Given the description of an element on the screen output the (x, y) to click on. 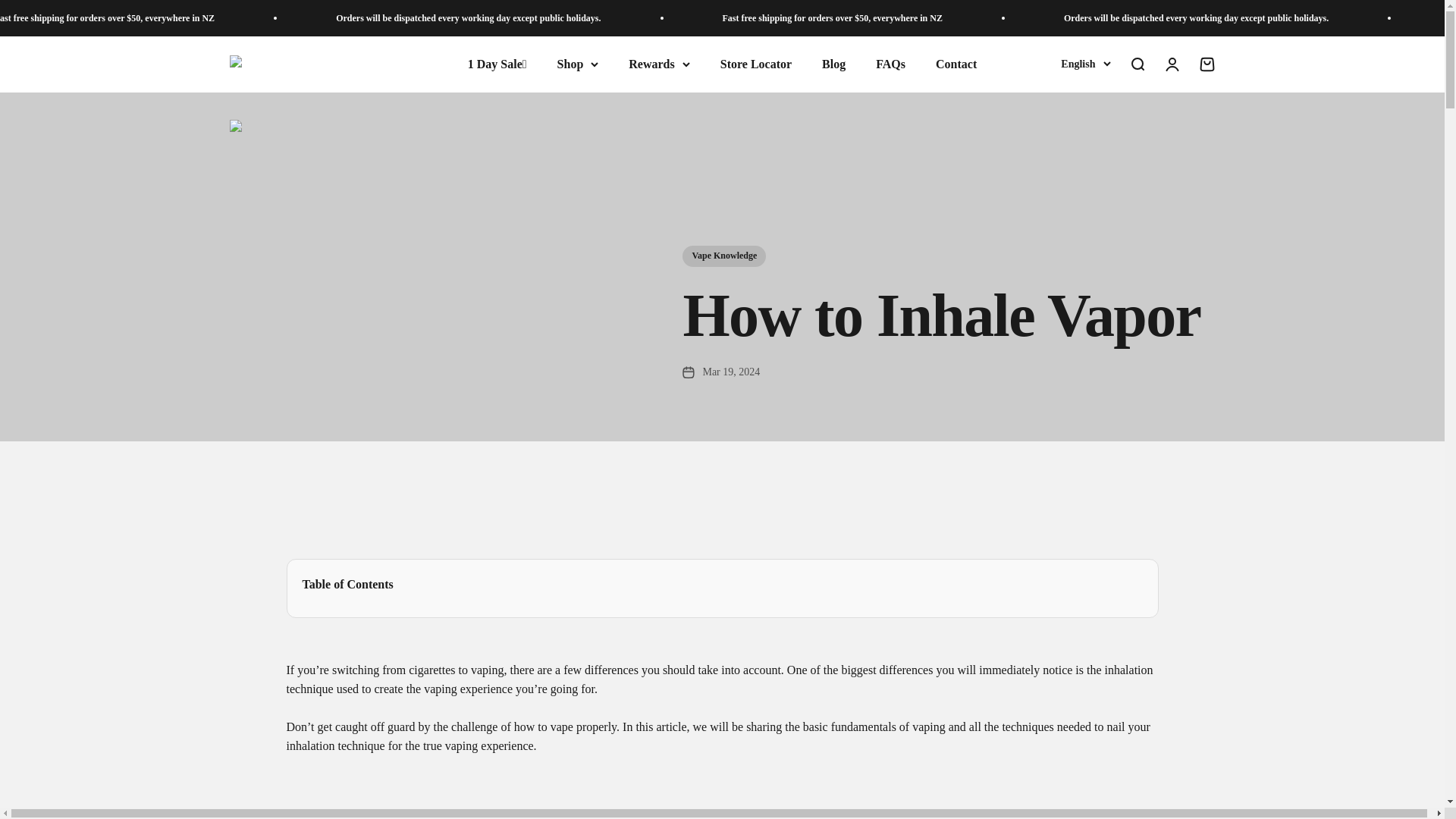
RELX New Zealand (274, 64)
FAQs (890, 63)
Open account page (1171, 64)
Store Locator (756, 63)
Shop (577, 64)
Blog (833, 63)
Contact (956, 63)
English (1085, 64)
Open search (1136, 64)
Open cart (1206, 64)
